Given the description of an element on the screen output the (x, y) to click on. 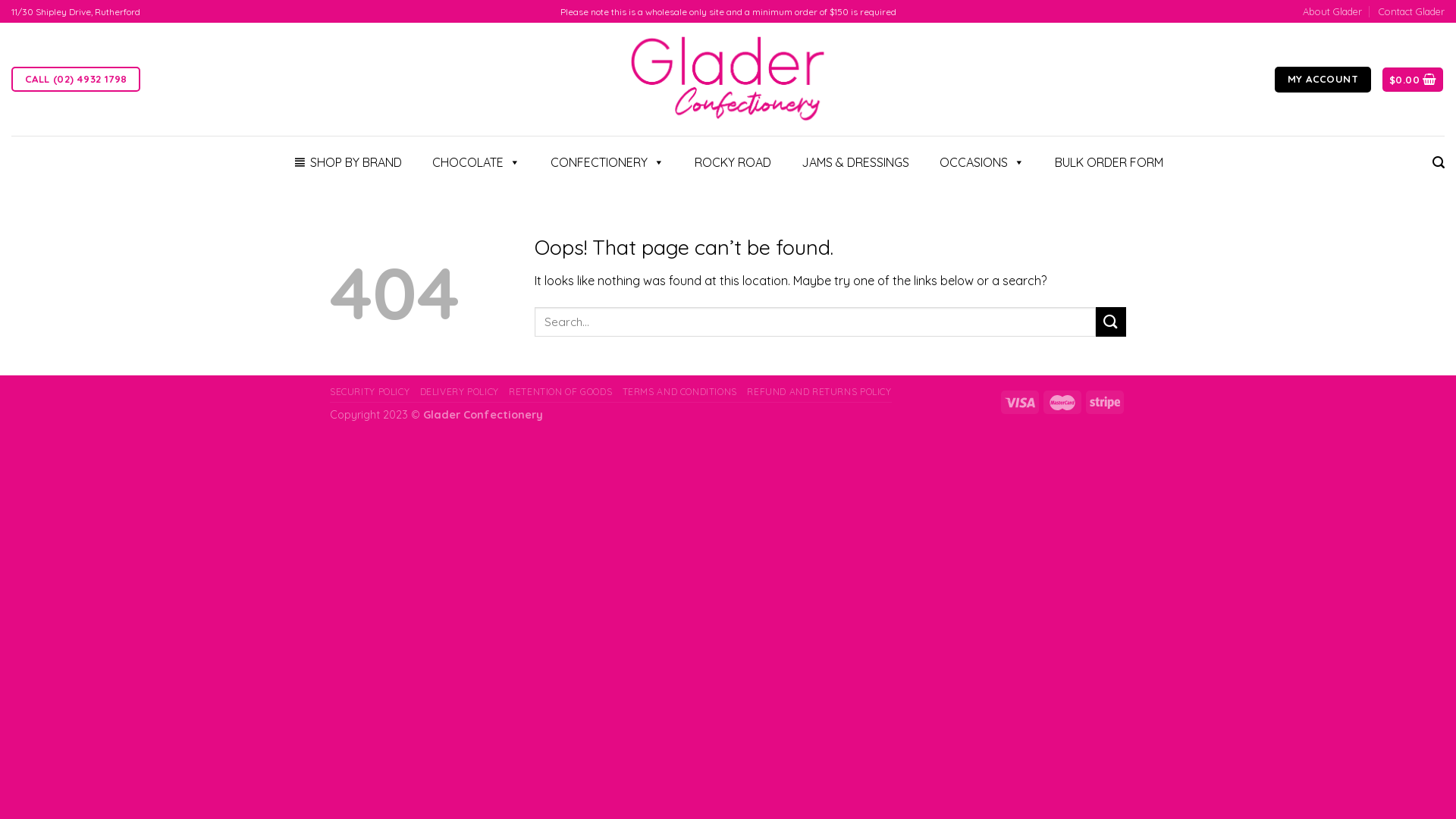
DELIVERY POLICY Element type: text (459, 391)
CONFECTIONERY Element type: text (606, 162)
CHOCOLATE Element type: text (475, 162)
REFUND AND RETURNS POLICY Element type: text (818, 391)
SECURITY POLICY Element type: text (369, 391)
JAMS & DRESSINGS Element type: text (854, 162)
OCCASIONS Element type: text (981, 162)
BULK ORDER FORM Element type: text (1108, 162)
TERMS AND CONDITIONS Element type: text (679, 391)
MY ACCOUNT Element type: text (1322, 79)
About Glader Element type: text (1331, 11)
Contact Glader Element type: text (1411, 11)
SHOP BY BRAND Element type: text (346, 162)
$0.00 Element type: text (1412, 79)
ROCKY ROAD Element type: text (732, 162)
CALL (02) 4932 1798 Element type: text (75, 78)
RETENTION OF GOODS Element type: text (559, 391)
